Given the description of an element on the screen output the (x, y) to click on. 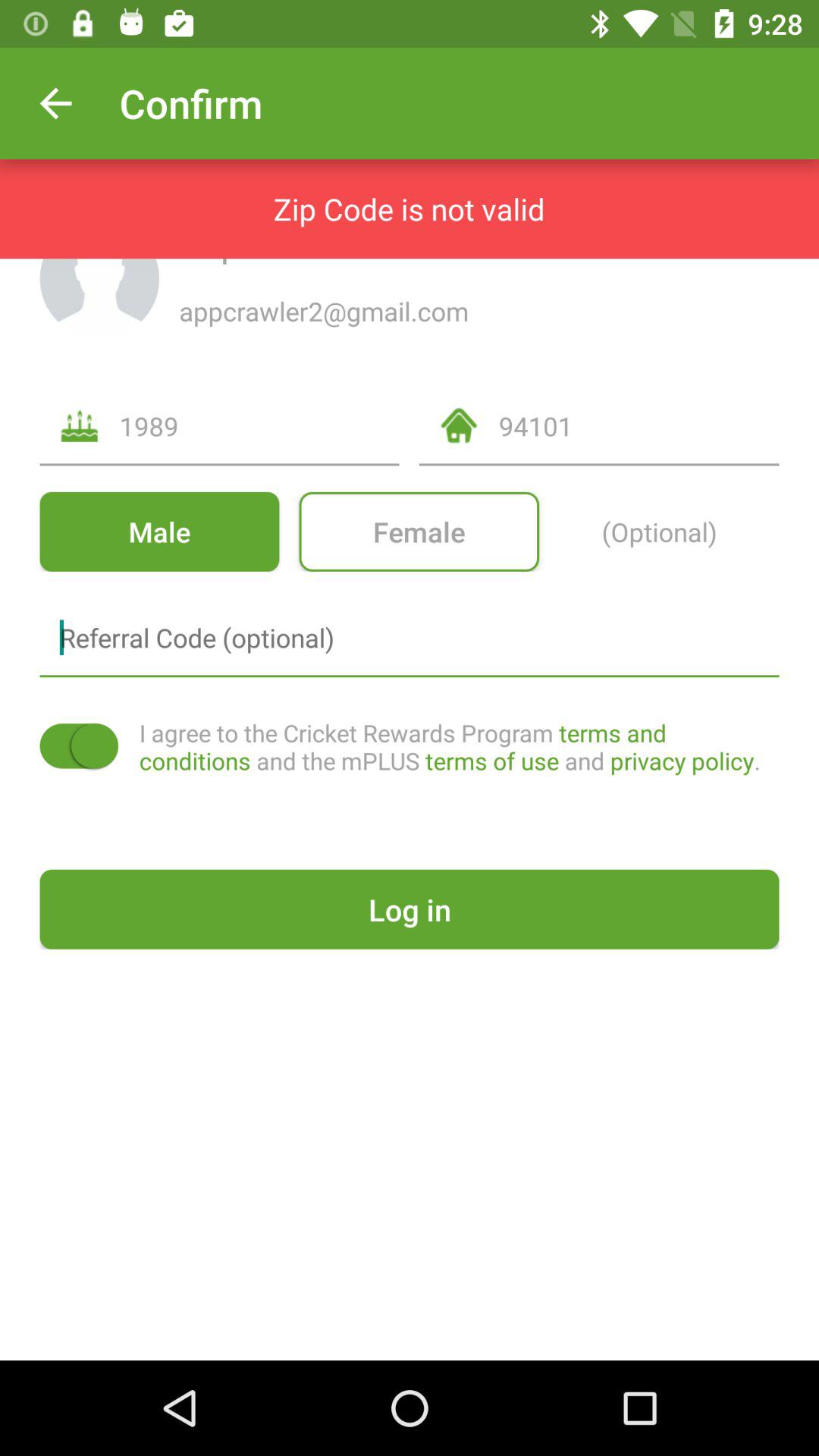
choose icon above female (638, 425)
